Given the description of an element on the screen output the (x, y) to click on. 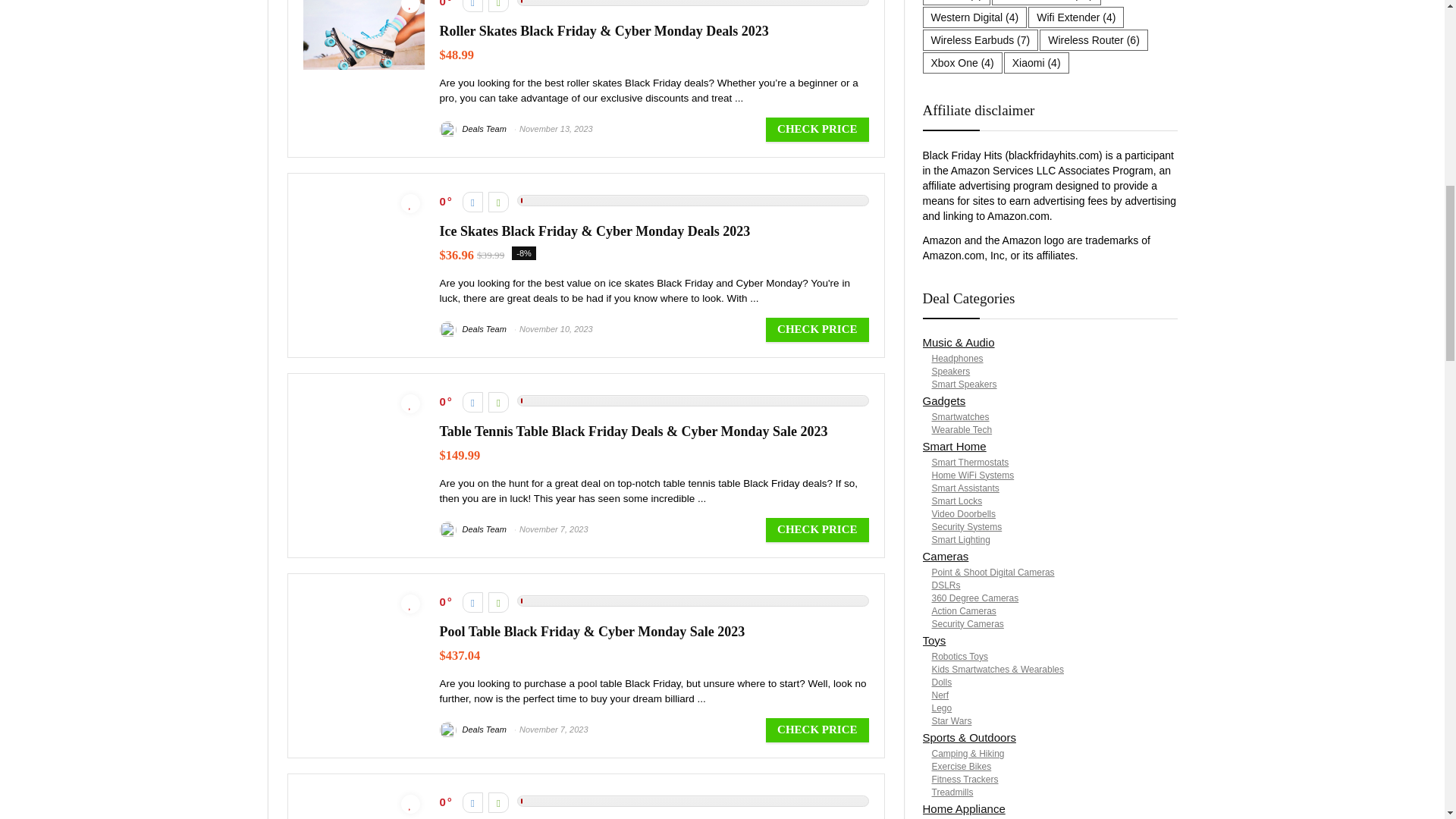
Vote down (473, 6)
Vote up (497, 201)
Vote down (473, 201)
Vote down (473, 602)
Vote up (497, 402)
Vote up (497, 802)
Vote down (473, 402)
Vote up (497, 602)
Vote down (473, 802)
Vote up (497, 6)
